Given the description of an element on the screen output the (x, y) to click on. 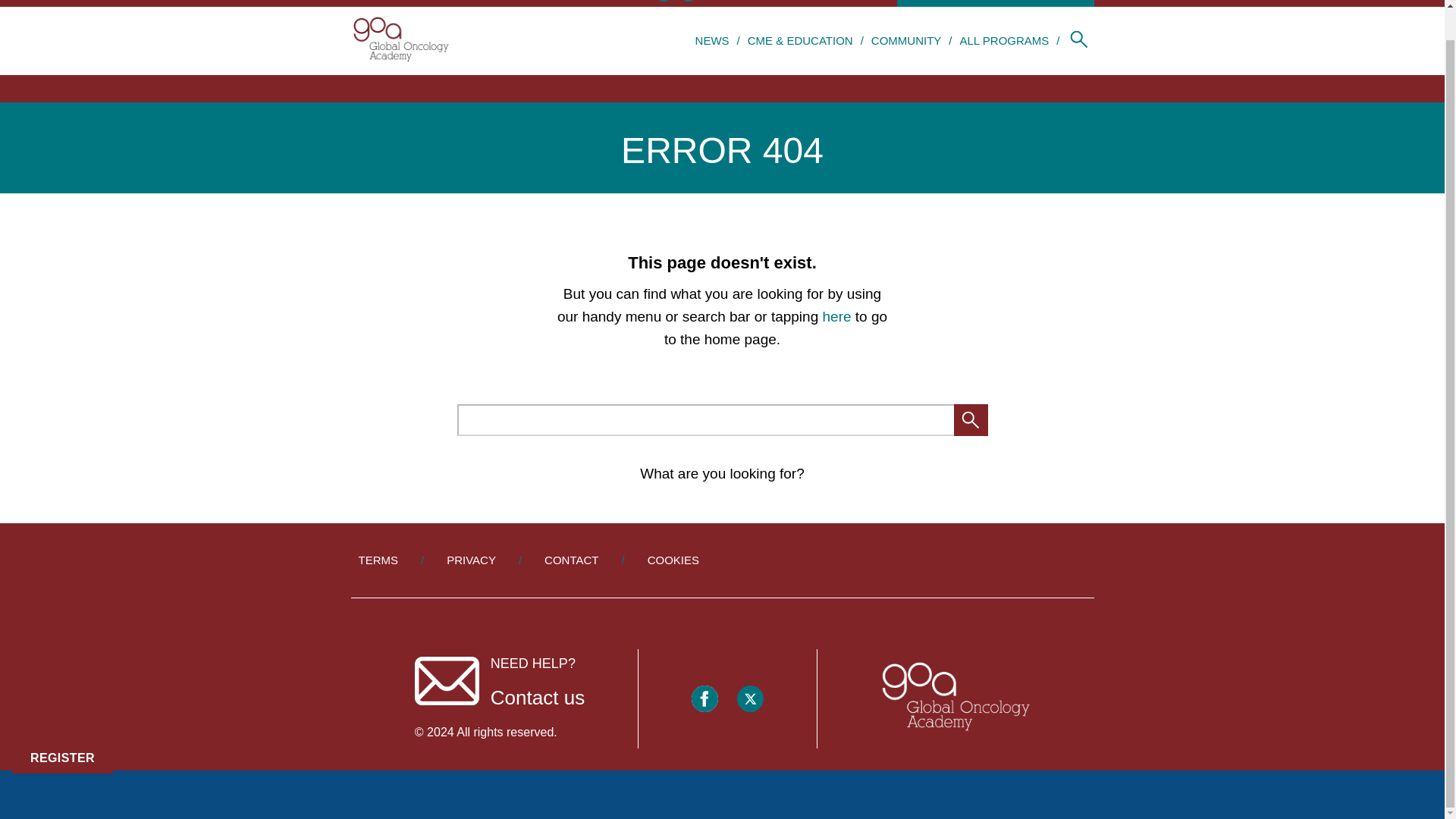
Global Oncology Academy (953, 699)
LOG IN (927, 3)
Global Oncology Academy (399, 40)
Global Oncology Academy (953, 697)
COMMUNITY (905, 40)
ALL PROGRAMS (1004, 40)
CREATE AN ACCOUNT (1026, 3)
Twitter (749, 698)
NEWS (712, 40)
